Given the description of an element on the screen output the (x, y) to click on. 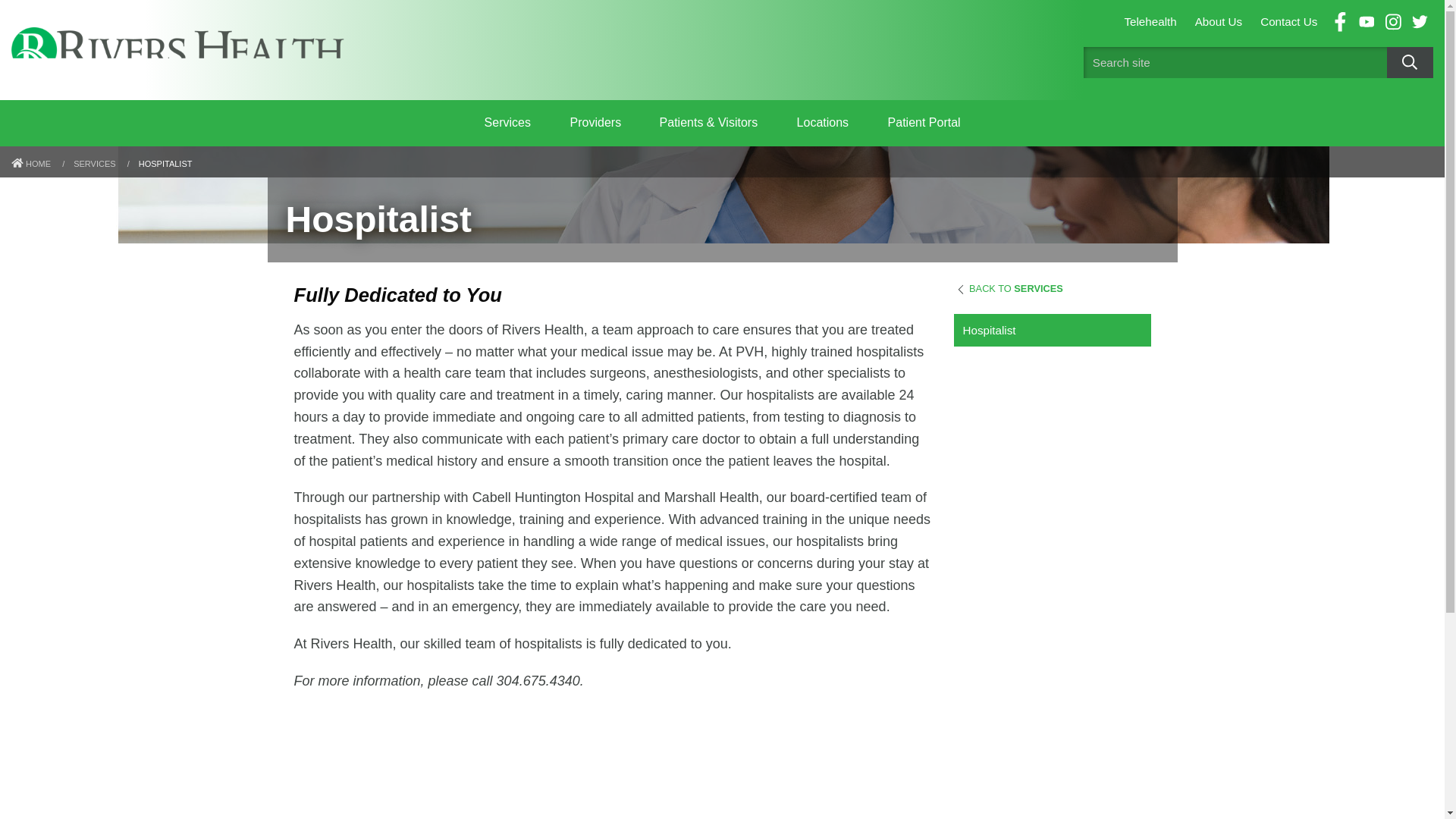
Twitter (1420, 21)
Locations (822, 122)
Contact Us (1288, 21)
Facebook (1339, 21)
YouTube (1366, 21)
Services (507, 122)
Providers (595, 122)
Telehealth (1150, 21)
Instagram (1393, 21)
Patient Portal (923, 122)
